Given the description of an element on the screen output the (x, y) to click on. 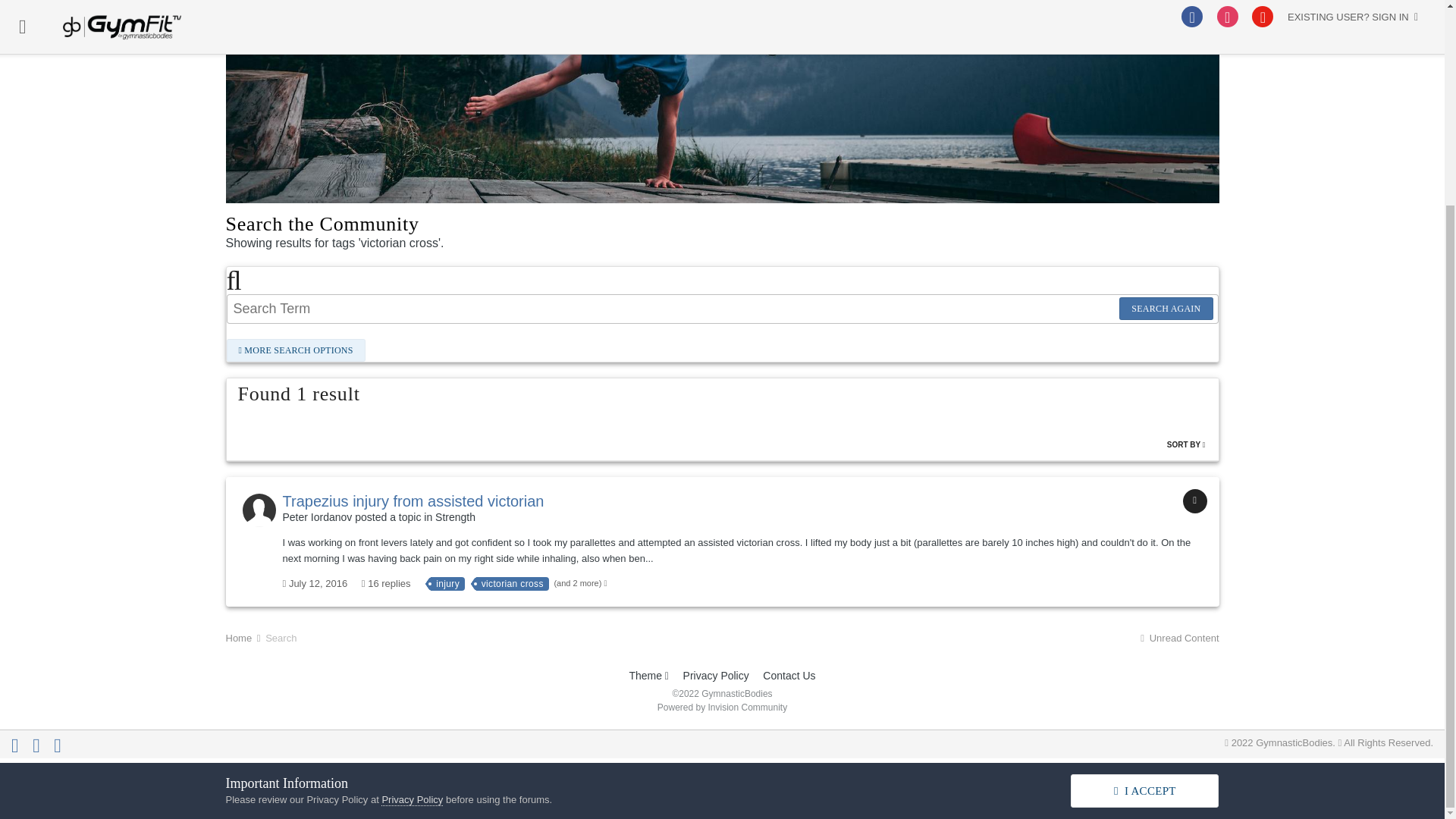
Find other content tagged with 'injury' (447, 583)
Find other content tagged with 'victorian cross' (512, 583)
Invision Community (722, 706)
Topic (1194, 500)
Home (244, 637)
